Given the description of an element on the screen output the (x, y) to click on. 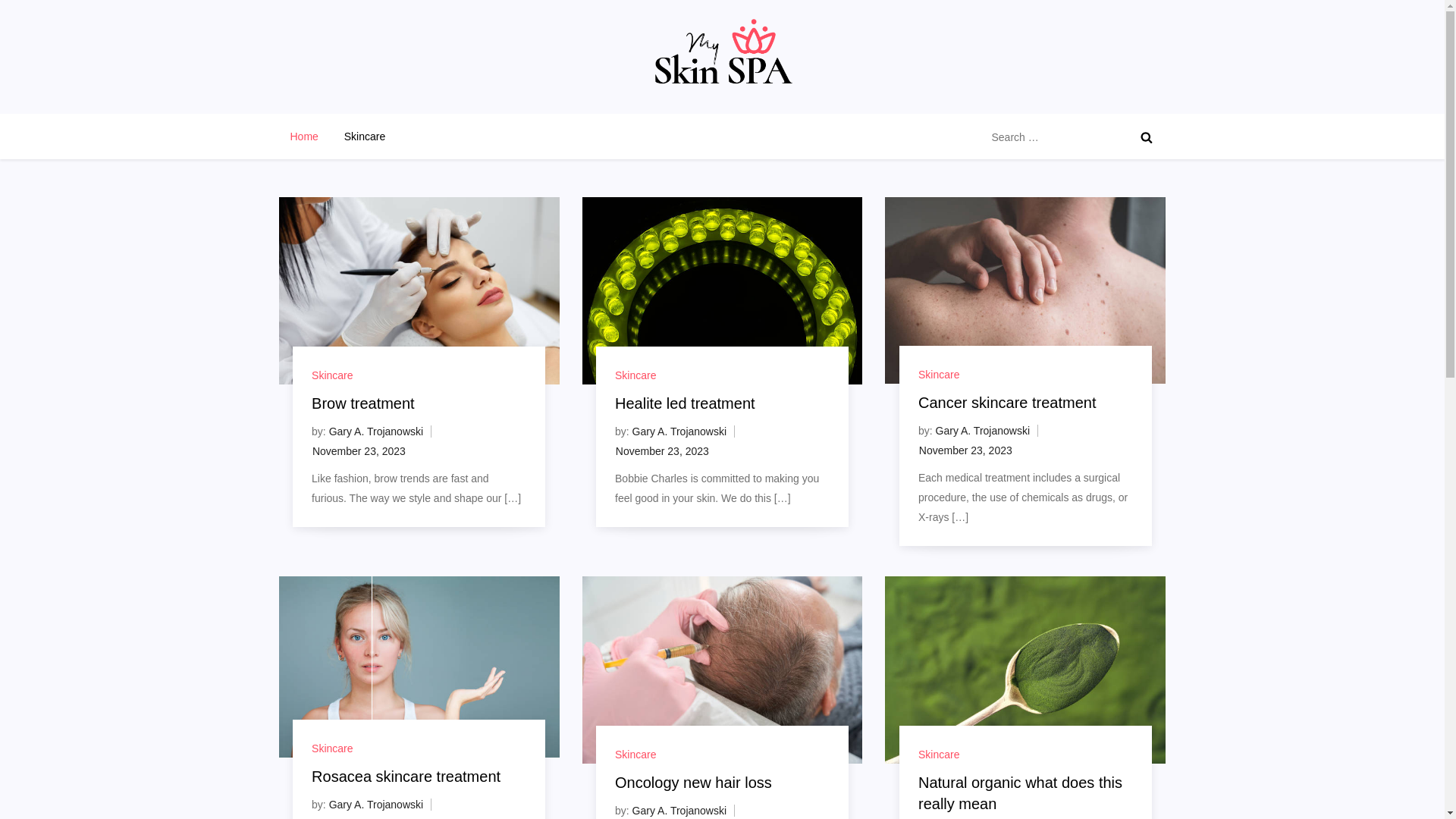
Brow treatment Element type: text (362, 403)
Healite led treatment Element type: text (685, 403)
Gary A. Trojanowski Element type: text (679, 810)
Skincare Element type: text (331, 375)
Gary A. Trojanowski Element type: text (679, 431)
Search Element type: text (1146, 137)
Gary A. Trojanowski Element type: text (982, 430)
Skincare Element type: text (938, 374)
Skincare Element type: text (635, 754)
Cancer skincare treatment Element type: text (1007, 402)
Gary A. Trojanowski Element type: text (376, 431)
Rosacea skincare treatment Element type: text (405, 776)
Skincare Element type: text (364, 136)
Skincare Element type: text (635, 375)
November 23, 2023 Element type: text (358, 451)
Oncology new hair loss Element type: text (693, 782)
Skincare Element type: text (331, 748)
Natural organic what does this really mean Element type: text (1020, 793)
Gary A. Trojanowski Element type: text (376, 804)
November 23, 2023 Element type: text (965, 450)
Home Element type: text (304, 136)
November 23, 2023 Element type: text (662, 451)
My Skin Spa Element type: text (346, 107)
Skincare Element type: text (938, 754)
